Given the description of an element on the screen output the (x, y) to click on. 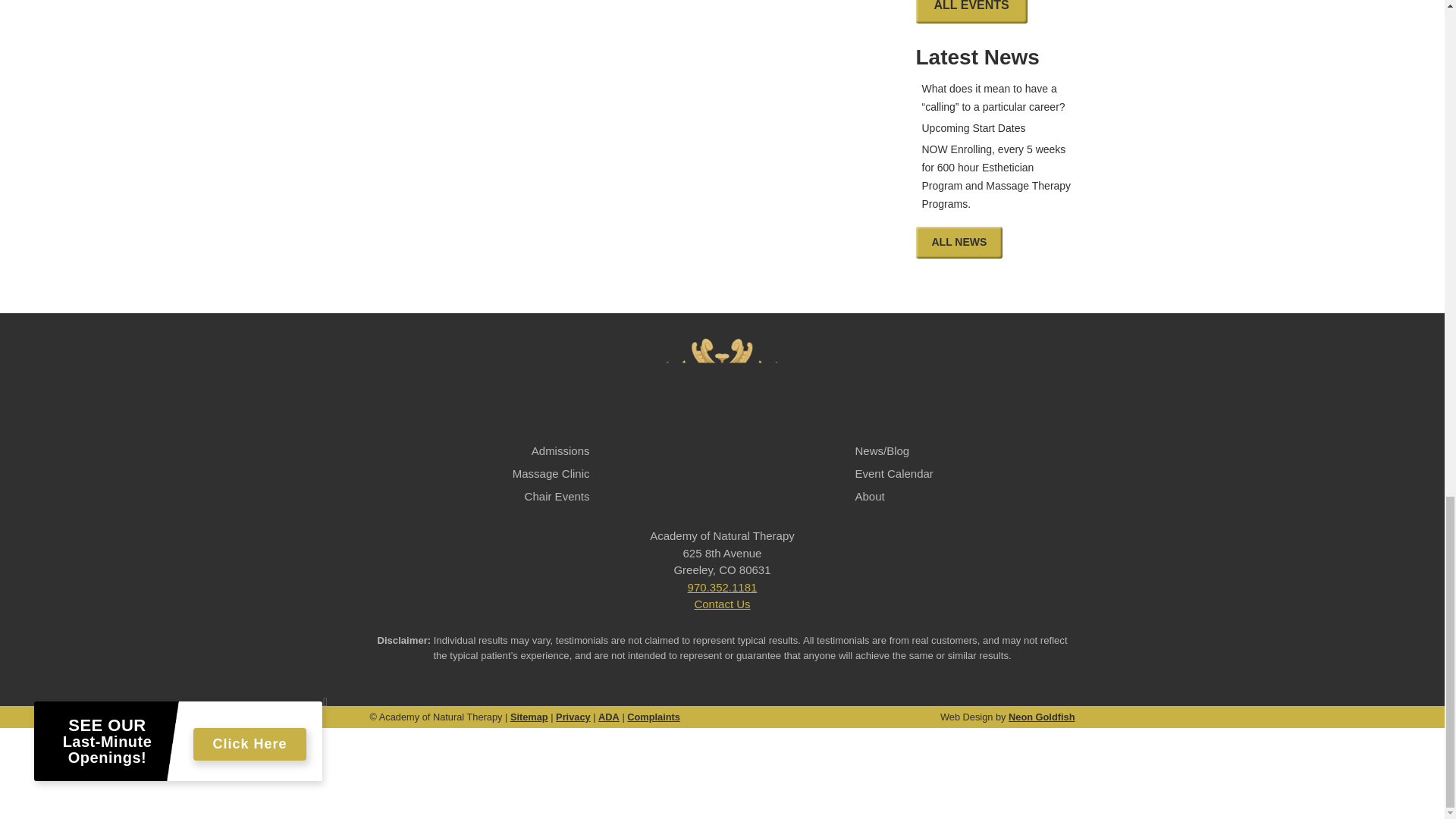
click to call (722, 586)
